Given the description of an element on the screen output the (x, y) to click on. 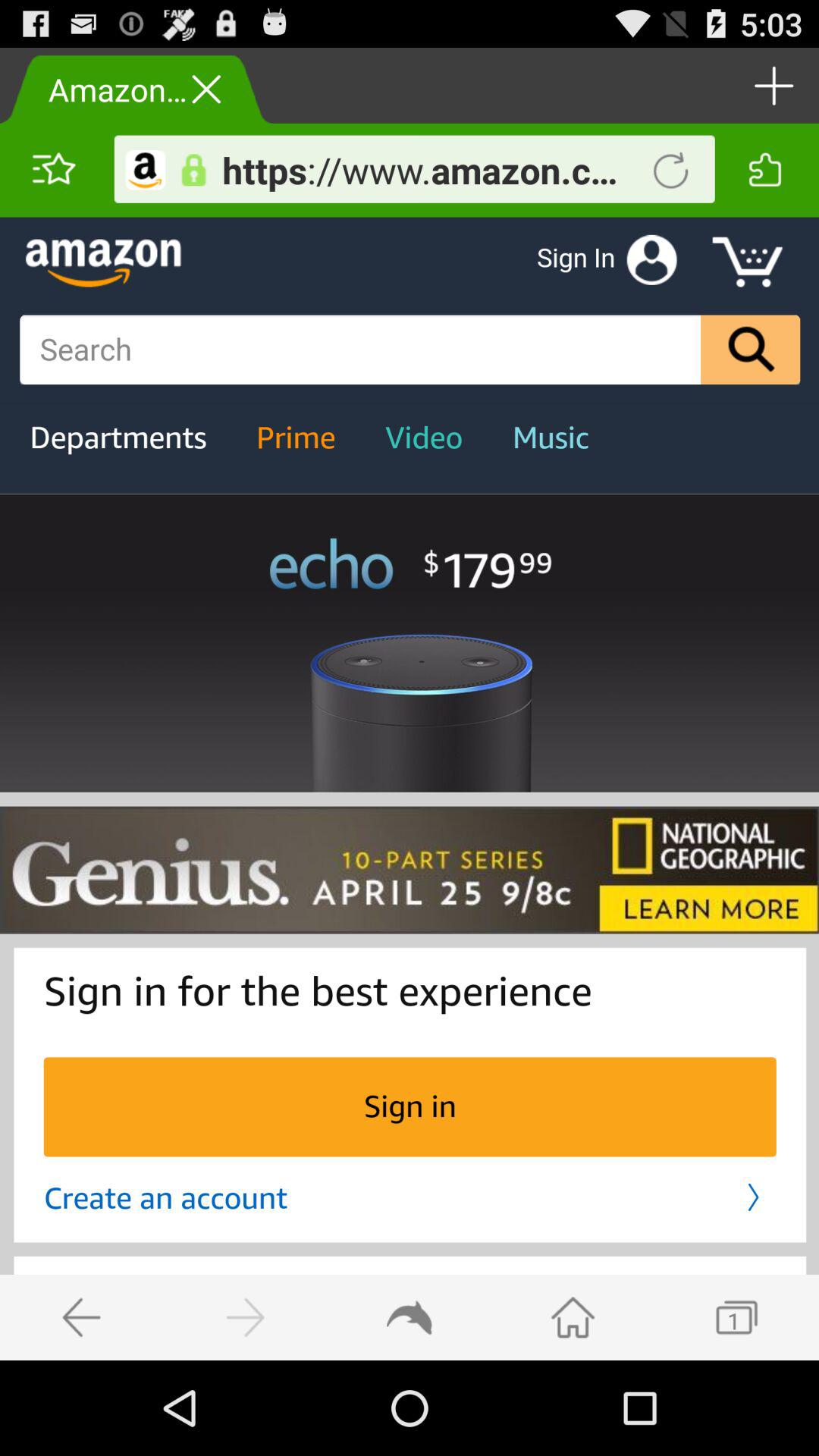
lock option (193, 169)
